Given the description of an element on the screen output the (x, y) to click on. 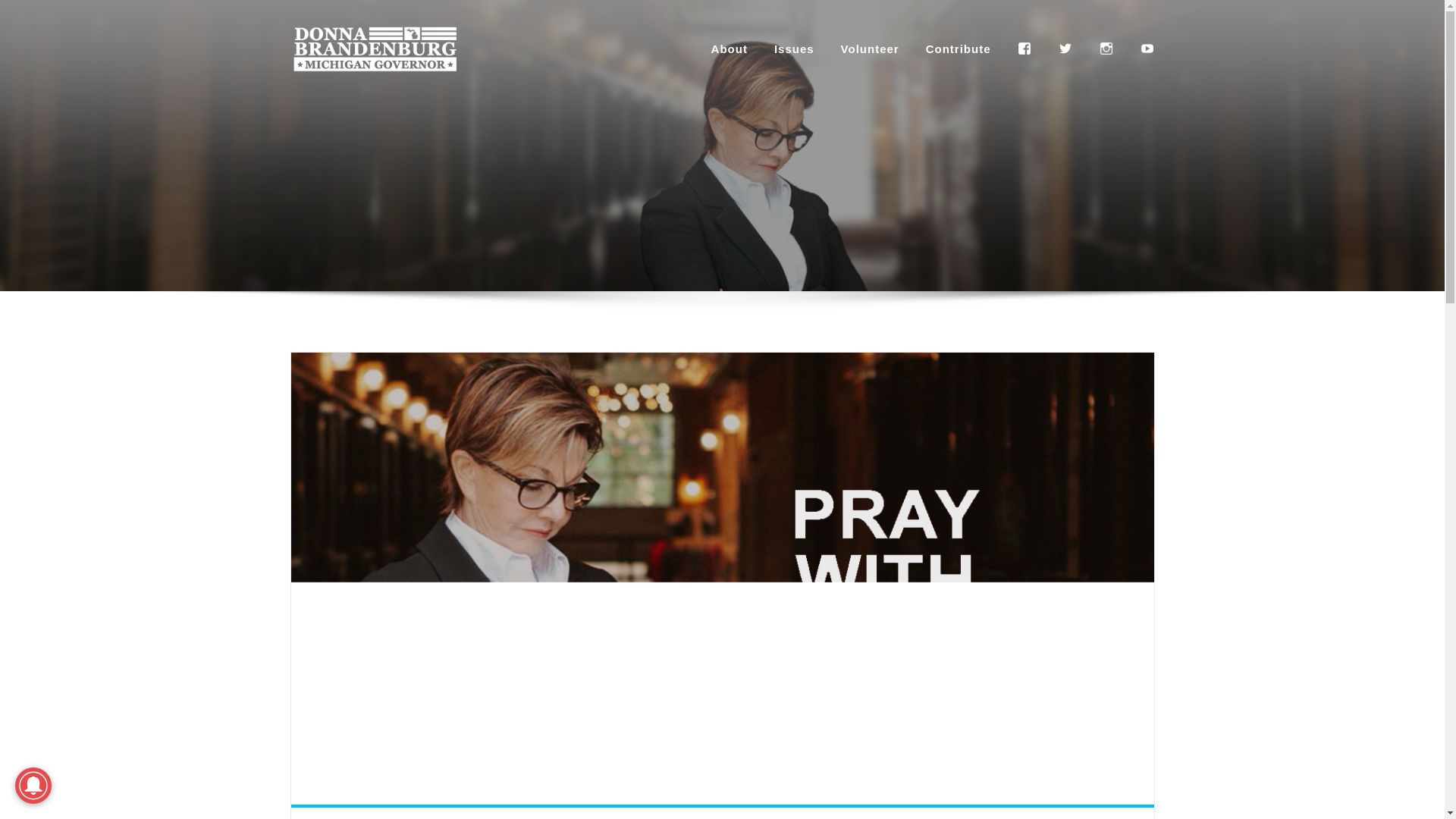
About (729, 48)
Volunteer (870, 48)
Contribute (958, 48)
Issues (793, 48)
